Given the description of an element on the screen output the (x, y) to click on. 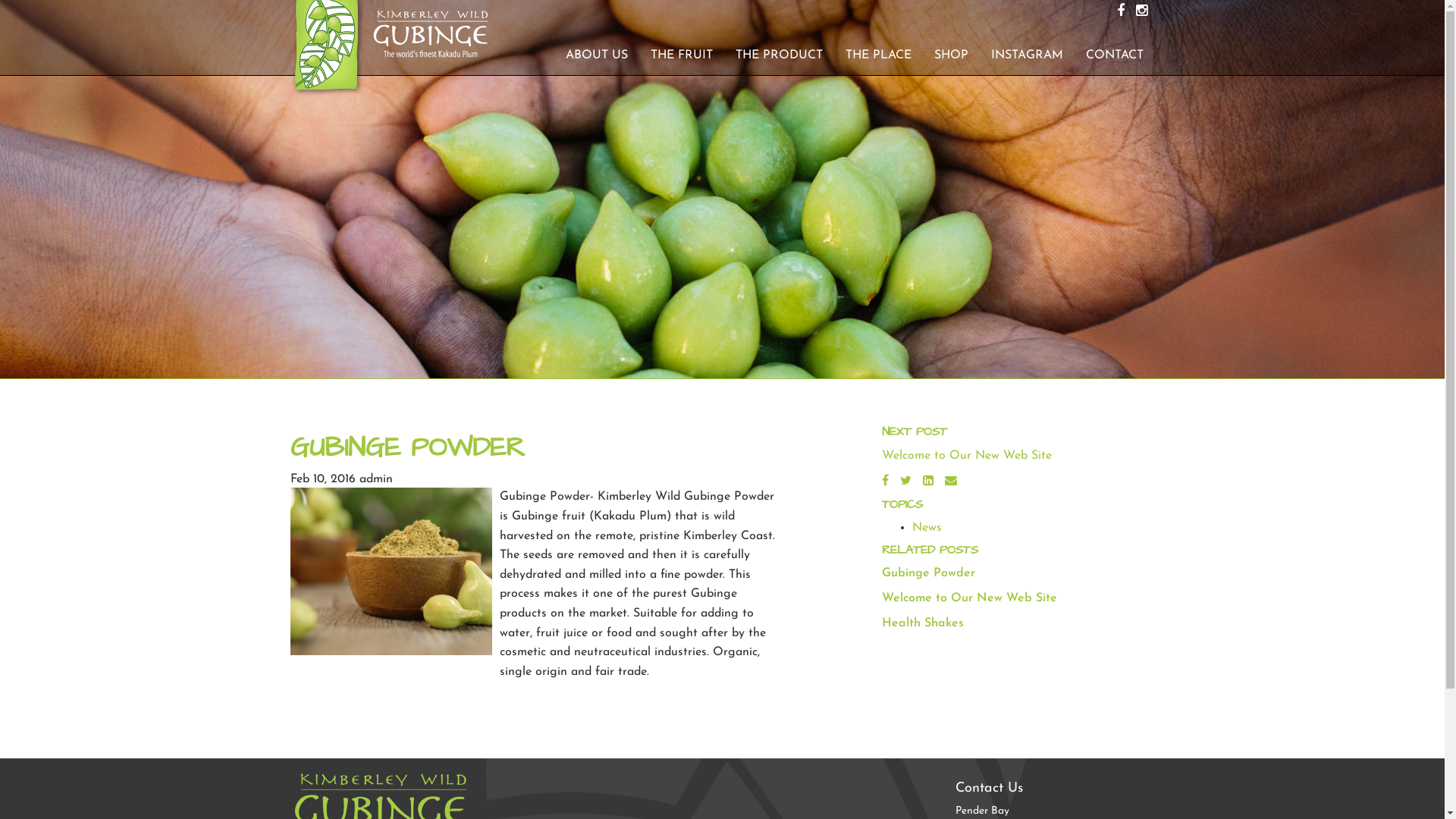
Welcome to Our New Web Site Element type: text (968, 598)
THE PLACE Element type: text (878, 55)
INSTAGRAM Element type: text (1026, 55)
ABOUT US Element type: text (595, 55)
THE FRUIT Element type: text (680, 55)
SHOP Element type: text (950, 55)
CONTACT Element type: text (1113, 55)
Health Shakes Element type: text (922, 623)
THE PRODUCT Element type: text (778, 55)
News Element type: text (926, 527)
Welcome to Our New Web Site Element type: text (966, 455)
Gubinge Powder Element type: text (927, 573)
